Given the description of an element on the screen output the (x, y) to click on. 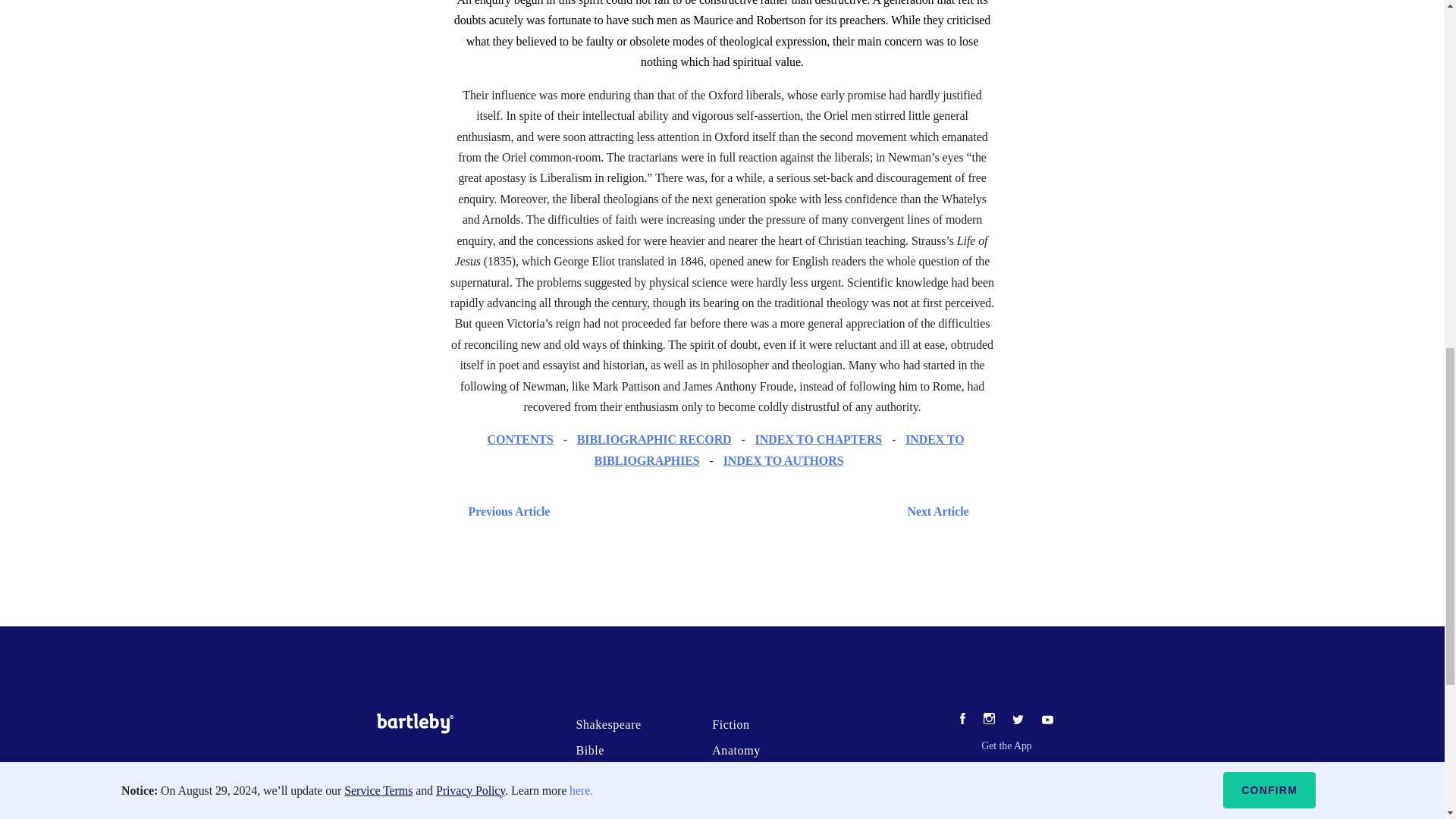
Strunk (592, 775)
INDEX TO BIBLIOGRAPHIES (778, 449)
CONTENTS (519, 439)
INDEX TO AUTHORS (783, 460)
INDEX TO CHAPTERS (818, 439)
Fiction (730, 724)
Bible (589, 749)
Nonfiction (603, 801)
BIBLIOGRAPHIC RECORD (654, 439)
Previous Article (505, 511)
